Given the description of an element on the screen output the (x, y) to click on. 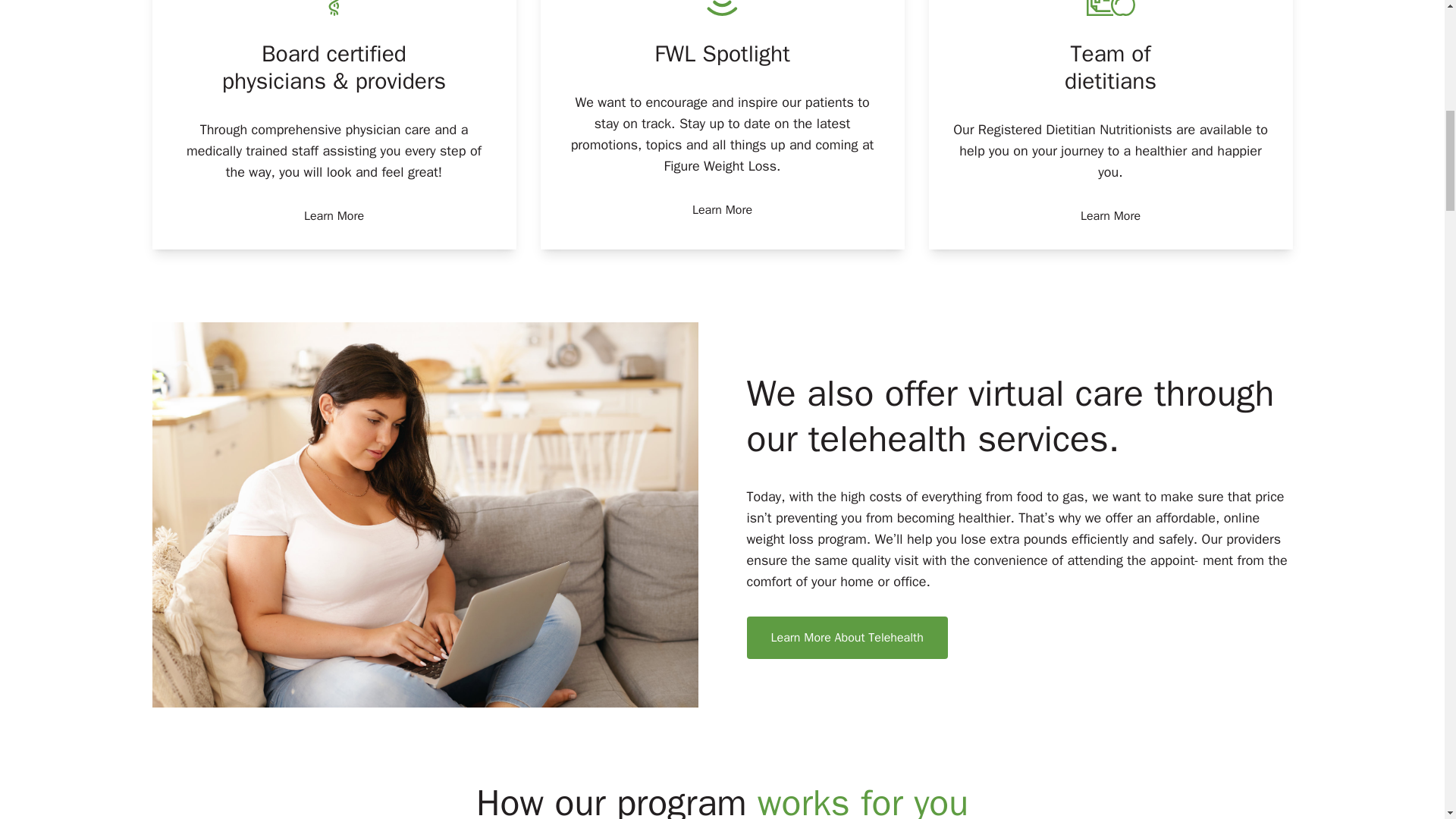
Learn More About Telehealth (846, 636)
